Given the description of an element on the screen output the (x, y) to click on. 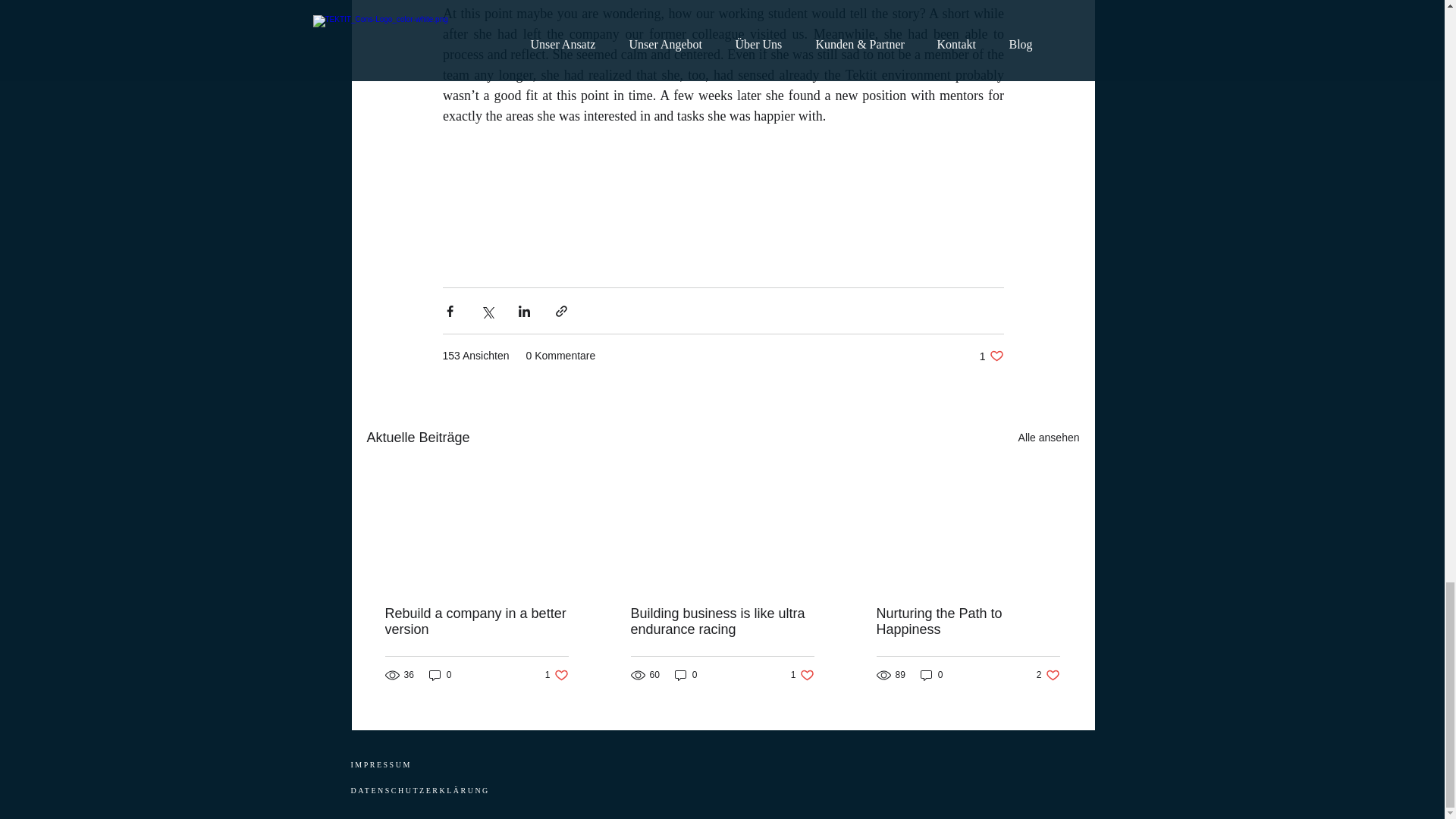
0 (931, 675)
0 (685, 675)
Nurturing the Path to Happiness (967, 622)
0 (440, 675)
IMPRESSUM (380, 764)
Rebuild a company in a better version (477, 622)
Building business is like ultra endurance racing (721, 622)
Alle ansehen (1048, 437)
